Given the description of an element on the screen output the (x, y) to click on. 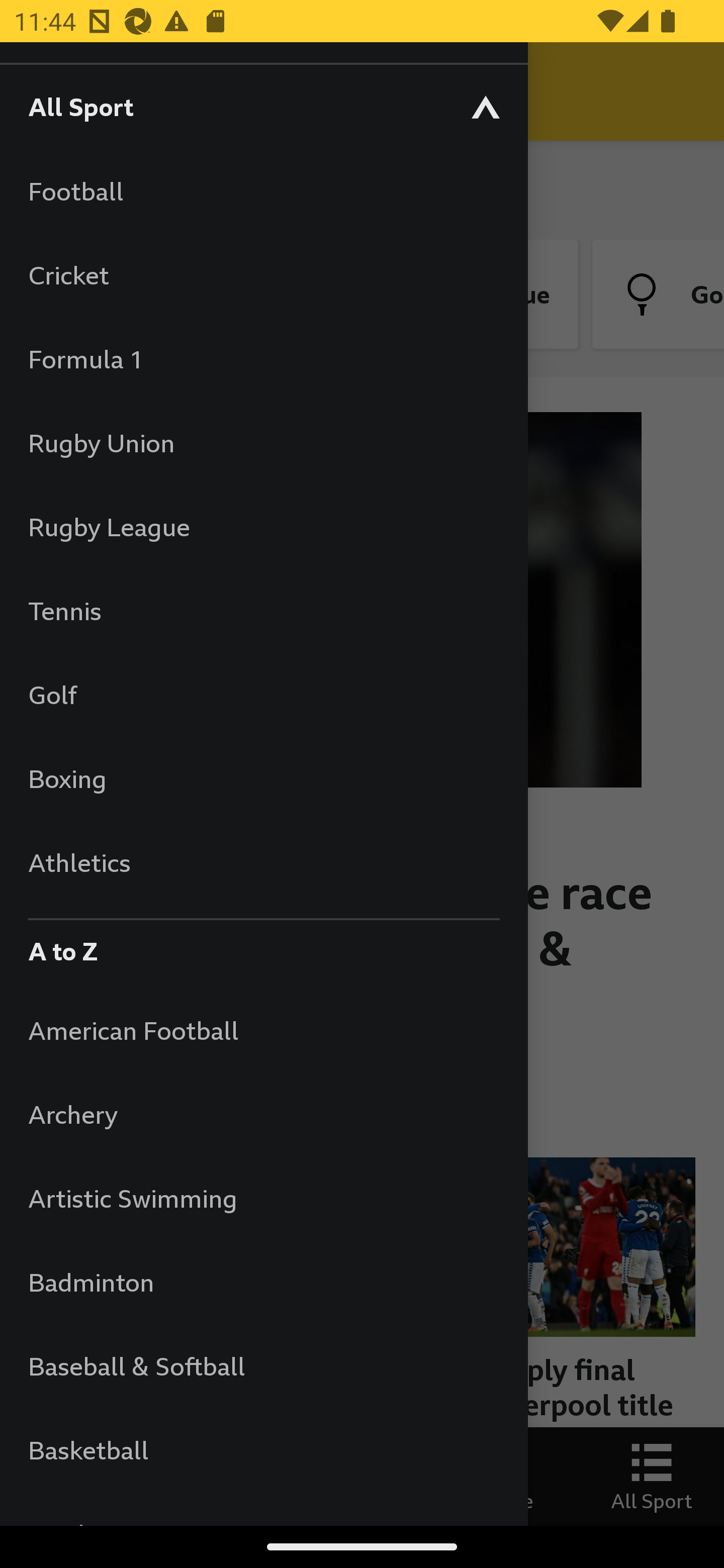
All Sport (263, 105)
Football (263, 190)
Cricket (263, 274)
Formula 1 (263, 358)
Rugby Union (263, 441)
Rugby League (263, 526)
Tennis (263, 609)
Golf (263, 694)
Boxing (263, 778)
Athletics (263, 862)
A to Z (263, 945)
American Football (263, 1029)
Archery (263, 1114)
Artistic Swimming (263, 1197)
Badminton (263, 1282)
Baseball & Softball (263, 1365)
Basketball (263, 1450)
